Given the description of an element on the screen output the (x, y) to click on. 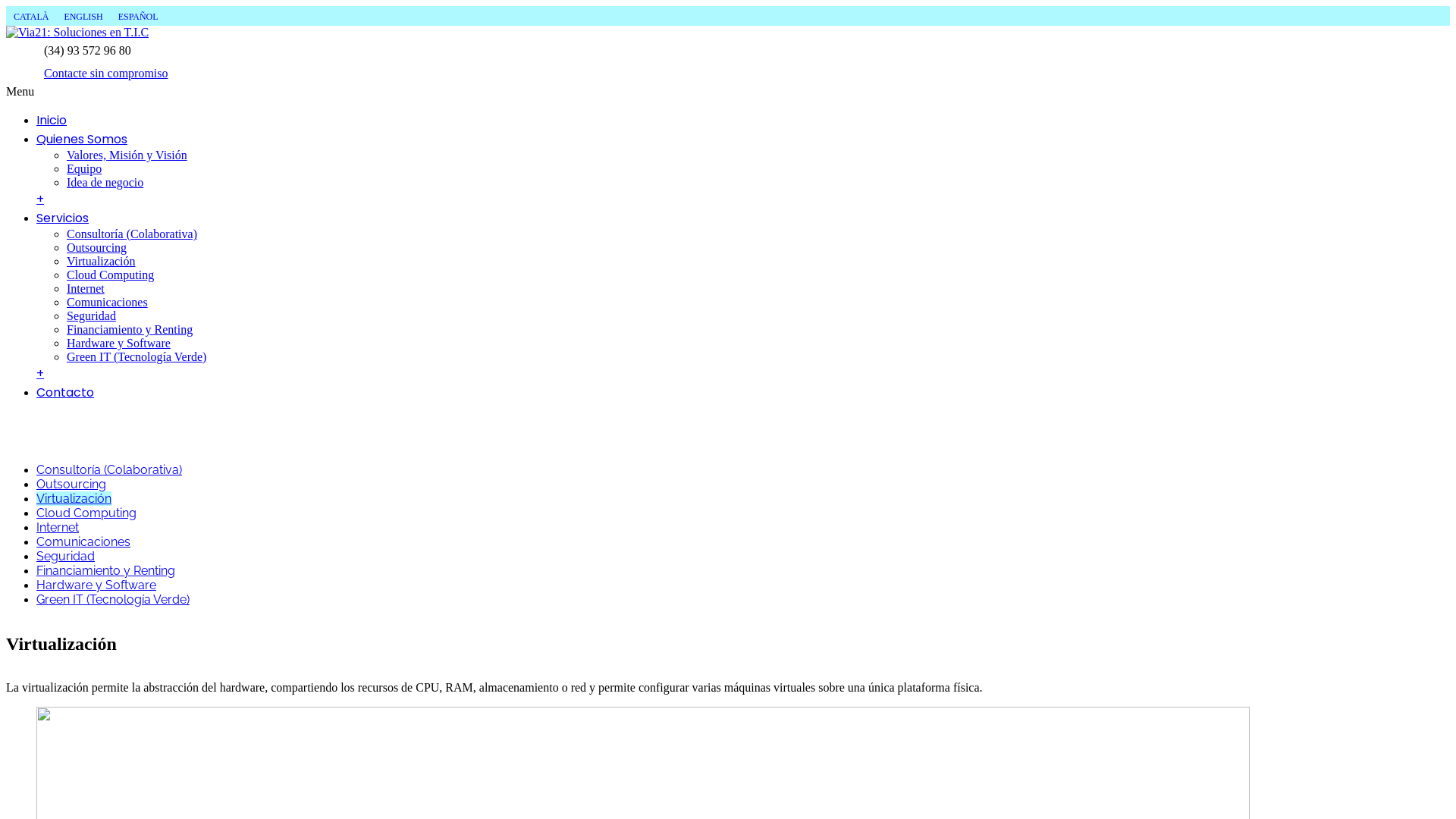
Via21: Soluciones en T.I.C Element type: hover (77, 32)
ENGLISH Element type: text (82, 15)
Outsourcing Element type: text (96, 247)
Comunicaciones Element type: text (106, 301)
Cloud Computing Element type: text (109, 274)
Contacte sin compromiso Element type: text (105, 72)
Inicio Element type: text (51, 119)
+ Element type: text (39, 198)
Quienes Somos Element type: text (81, 138)
Servicios Element type: text (62, 217)
Internet Element type: text (85, 288)
Idea de negocio Element type: text (104, 181)
Seguridad Element type: text (91, 315)
+ Element type: text (39, 373)
Hardware y Software Element type: text (118, 342)
Comunicaciones Element type: text (83, 541)
Financiamiento y Renting Element type: text (105, 570)
Internet Element type: text (57, 527)
Financiamiento y Renting Element type: text (129, 329)
Equipo Element type: text (83, 168)
Cloud Computing Element type: text (86, 512)
Seguridad Element type: text (65, 556)
Outsourcing Element type: text (71, 483)
Hardware y Software Element type: text (96, 584)
Contacto Element type: text (65, 392)
Via21: Soluciones en T.I.C Element type: hover (77, 31)
